Given the description of an element on the screen output the (x, y) to click on. 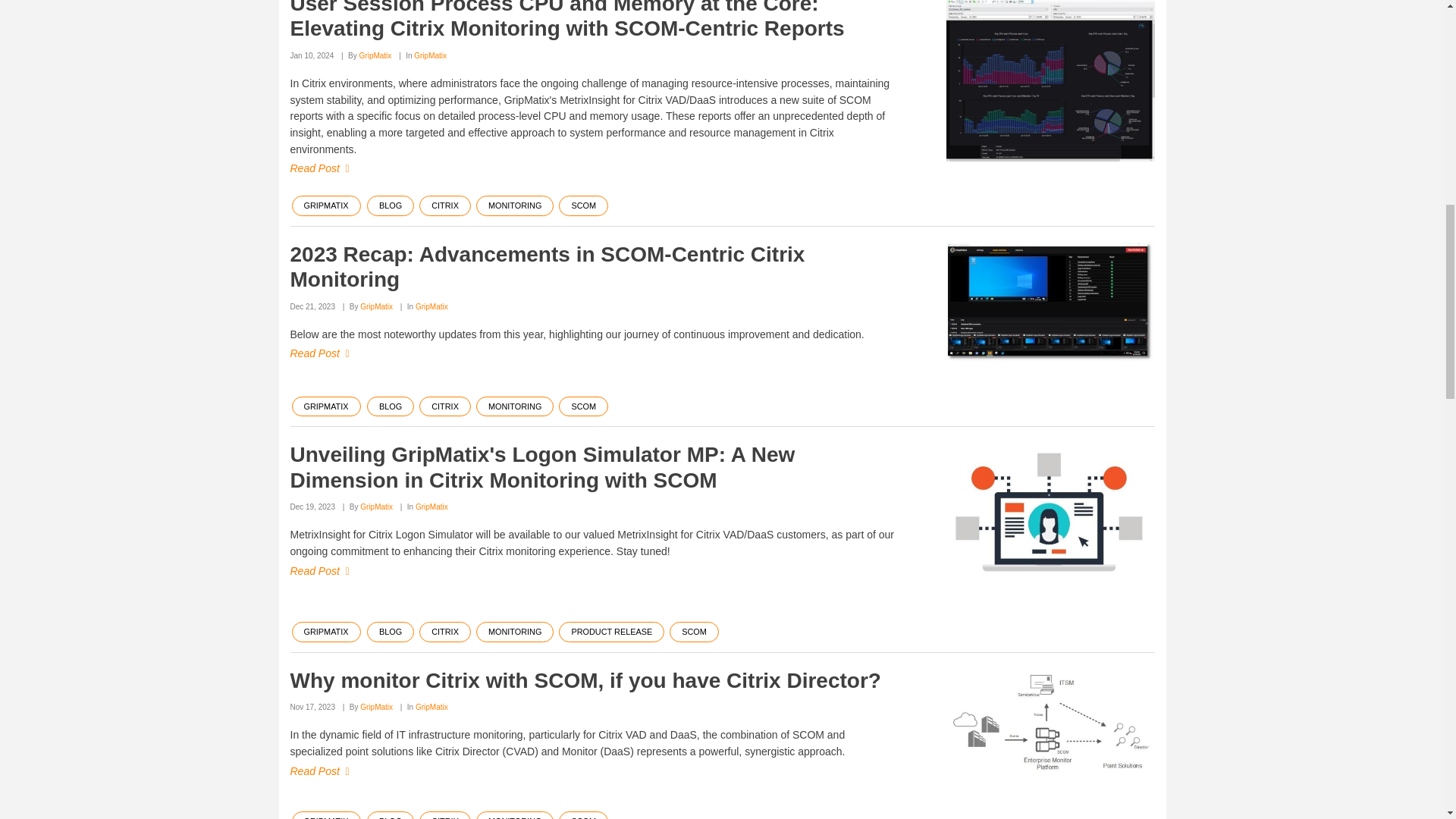
GripMatix (1050, 301)
GripMatix (1050, 80)
GripMatix (1050, 515)
GripMatix (1050, 722)
